Given the description of an element on the screen output the (x, y) to click on. 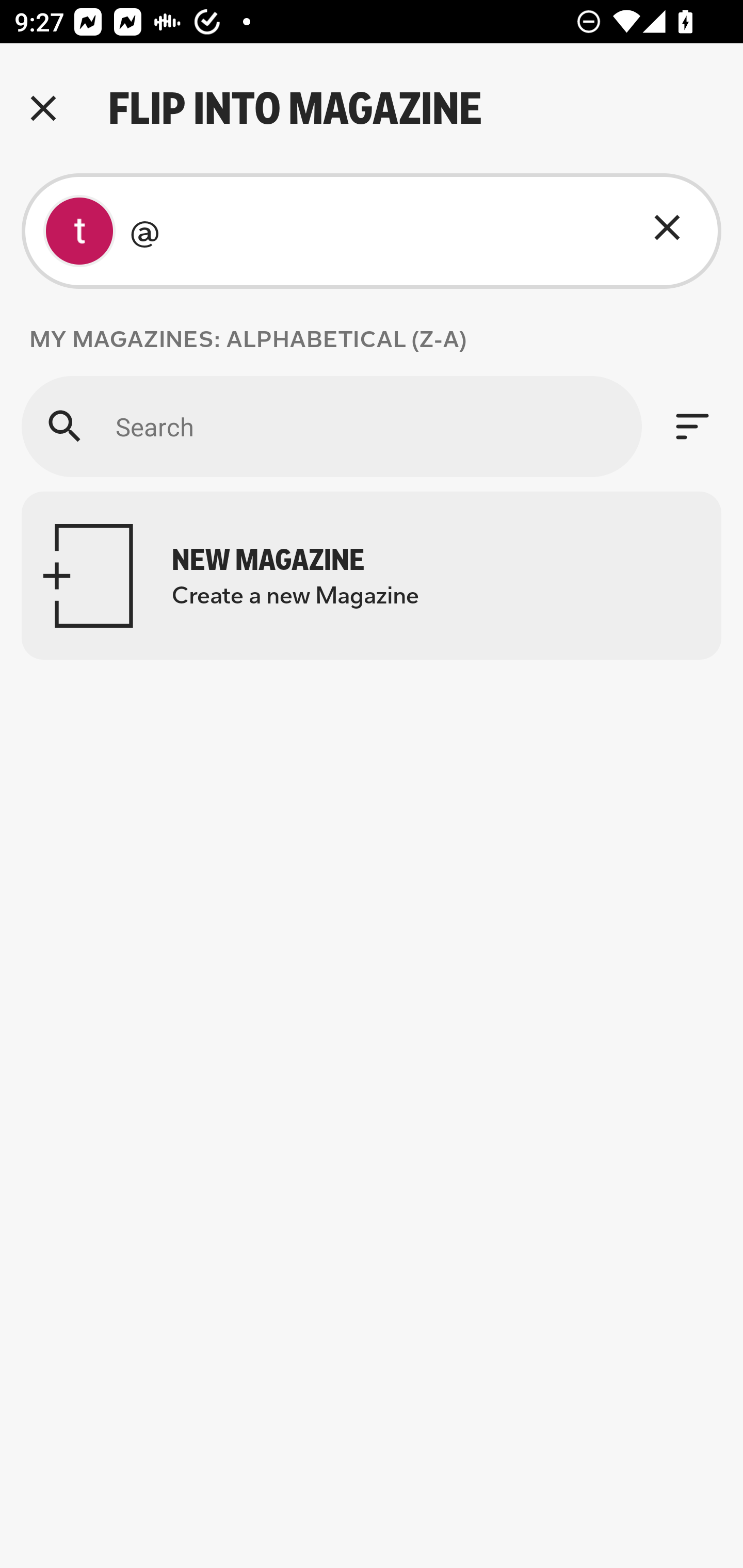
test appium @ (371, 231)
Search (331, 426)
NEW MAGAZINE Create a new Magazine (371, 575)
